Given the description of an element on the screen output the (x, y) to click on. 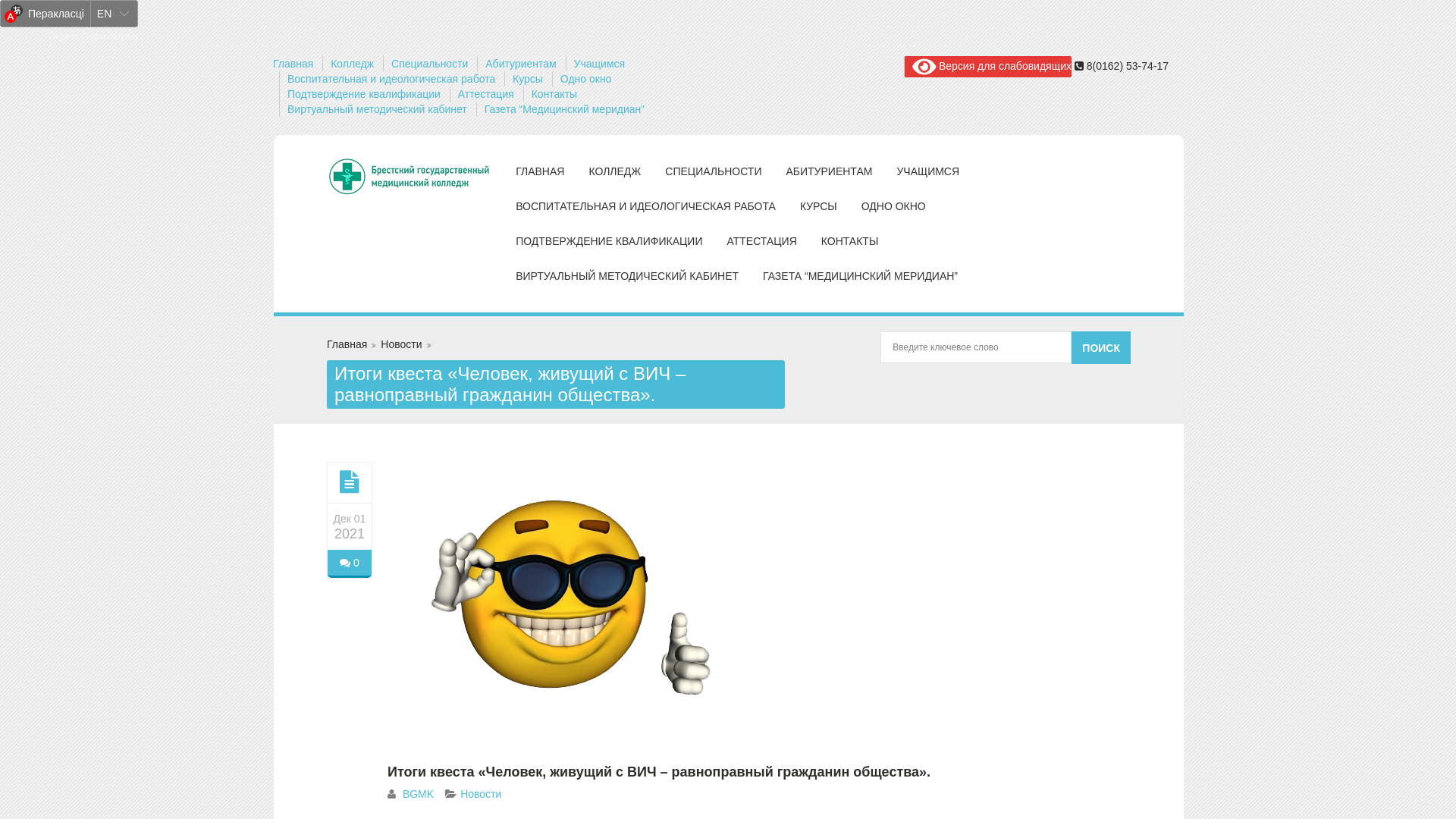
0 Element type: text (349, 563)
BGMK Element type: text (417, 793)
